Given the description of an element on the screen output the (x, y) to click on. 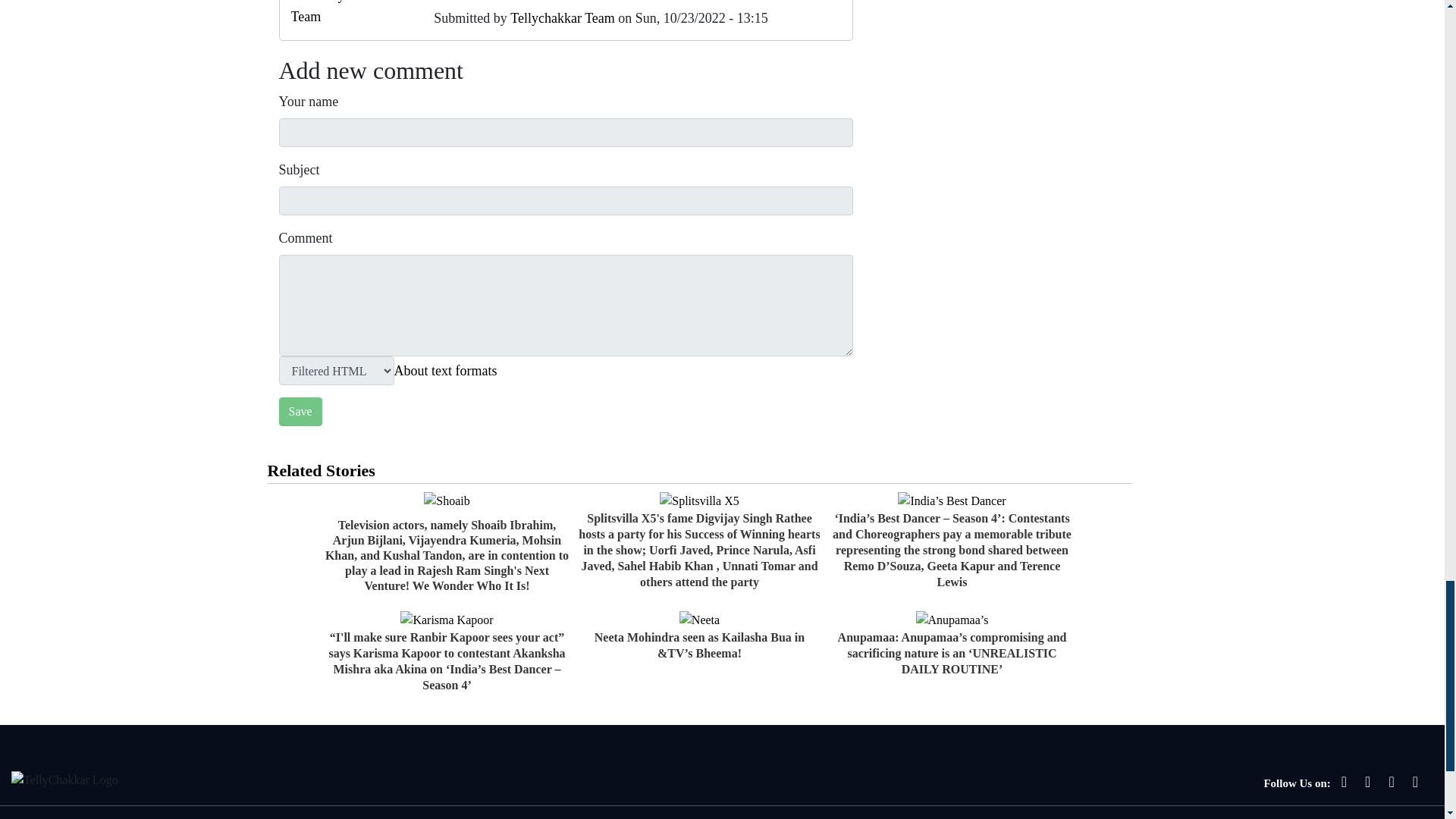
Opens in new window (445, 370)
TellyChakkar Logo (64, 780)
View user profile. (562, 17)
Shoaib  (445, 501)
Splitsvilla X5 (698, 501)
Neeta (699, 619)
Karisma Kapoor (446, 619)
